Given the description of an element on the screen output the (x, y) to click on. 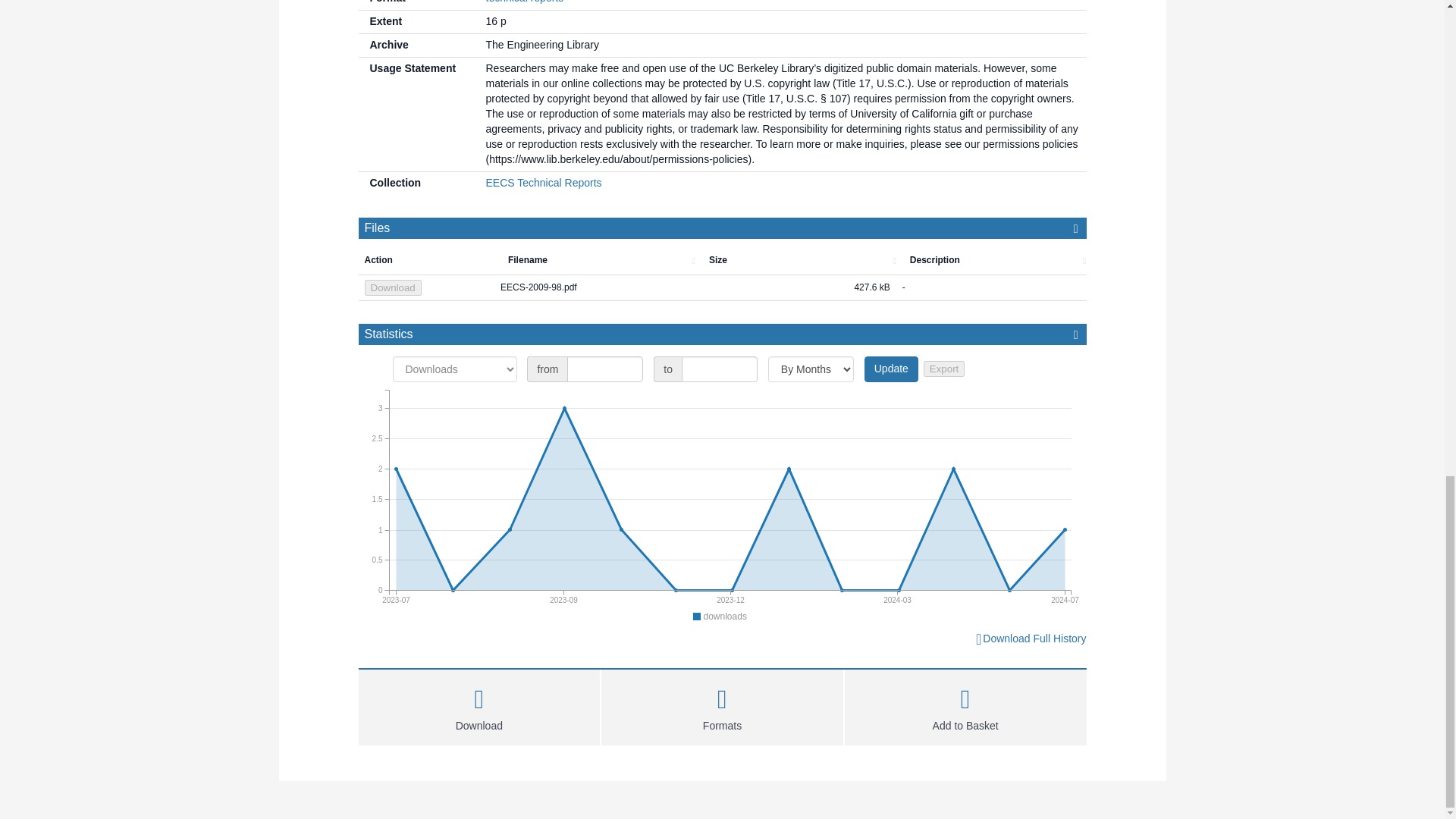
Update (891, 369)
Download EECS-2009-98.pdf 427.6 kB - (722, 288)
Action Filename Size Description (727, 260)
EECS-2009-98.pdf (595, 288)
427.6 kB (795, 288)
technical reports (523, 2)
- (991, 288)
EECS Technical Reports (542, 182)
Add to Basket (965, 705)
Download (478, 705)
Download Full History (1030, 639)
Action Filename Size Description (722, 260)
